Given the description of an element on the screen output the (x, y) to click on. 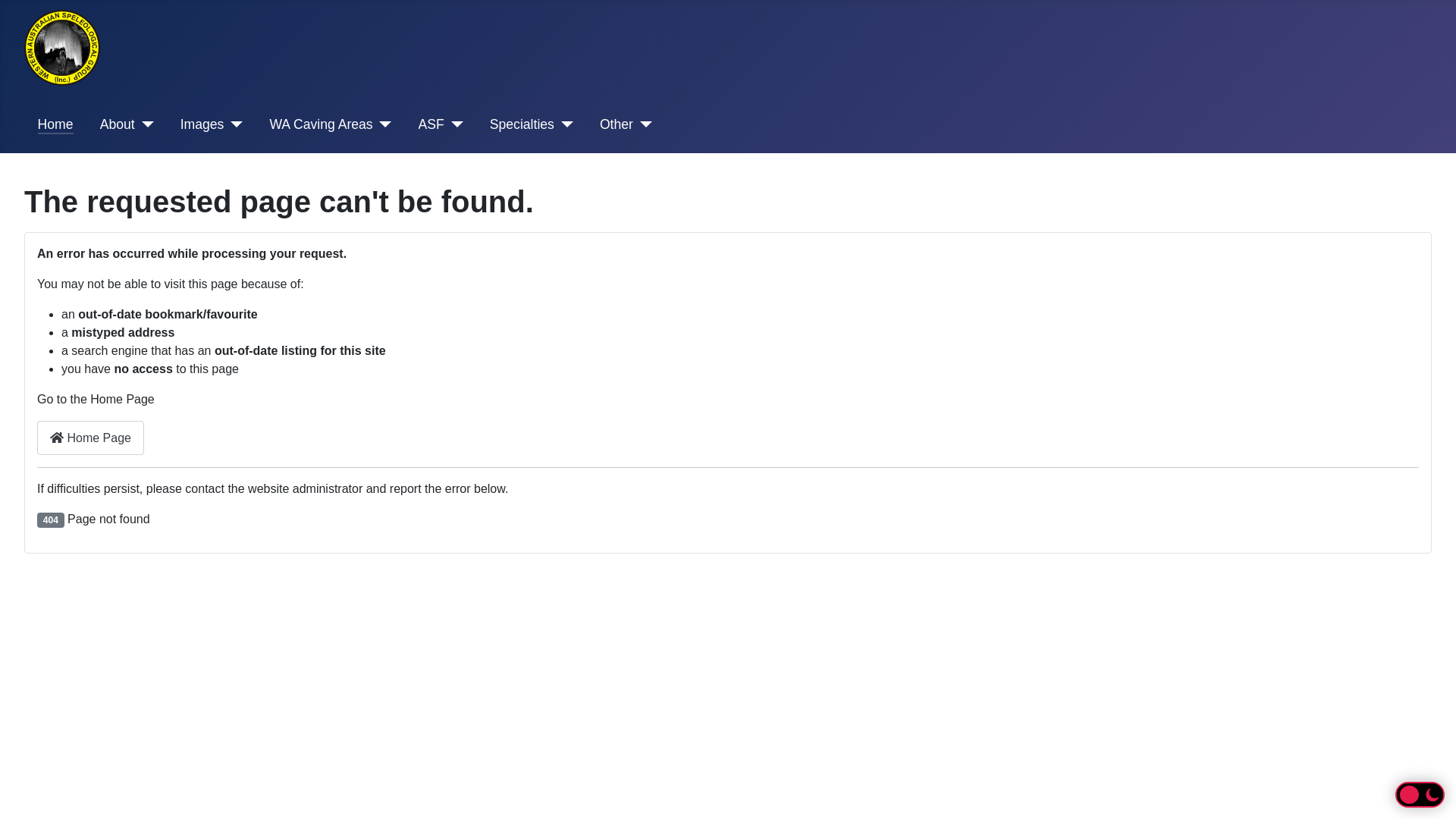
Images Element type: text (211, 124)
ASF Element type: text (440, 124)
Other Element type: text (625, 124)
Home Element type: text (55, 124)
Specialties Element type: text (531, 124)
WA Caving Areas Element type: text (330, 124)
About Element type: text (126, 124)
Home Page Element type: text (90, 437)
